Given the description of an element on the screen output the (x, y) to click on. 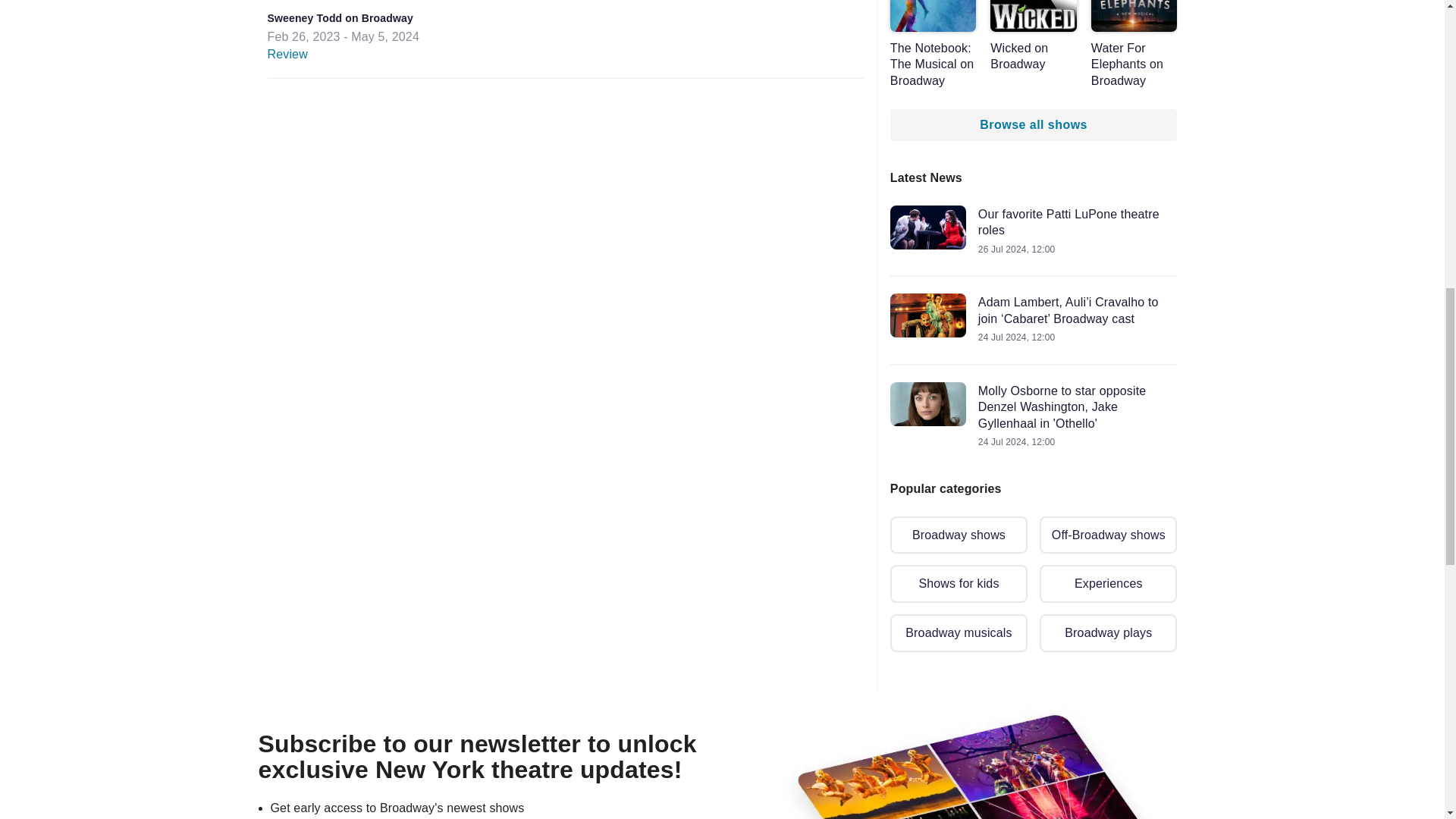
Read more about Water For Elephants on Broadway (1133, 44)
Read more about Wicked on Broadway (1033, 36)
Read more about The Notebook: The Musical on Broadway (932, 44)
